Given the description of an element on the screen output the (x, y) to click on. 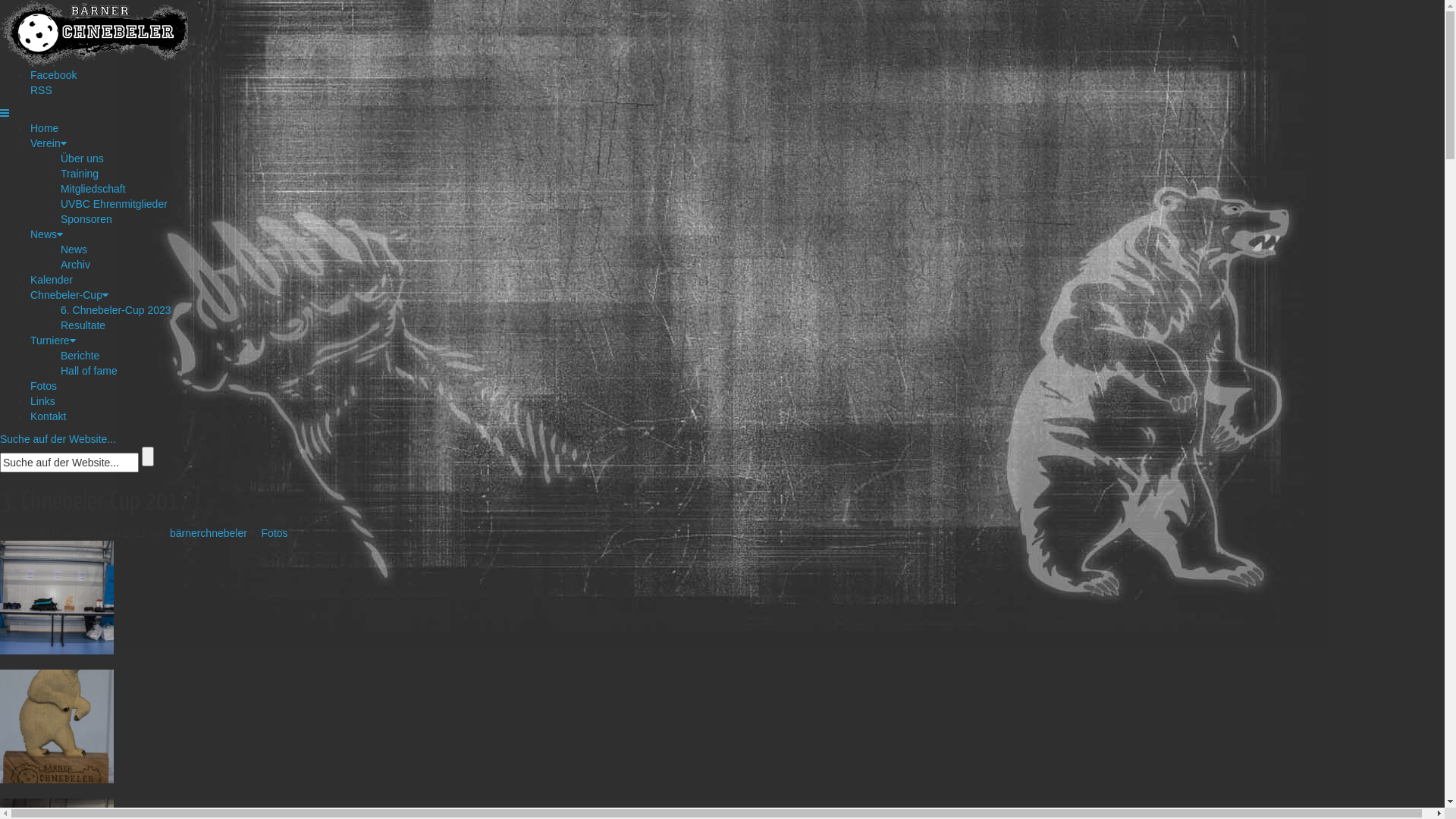
Kalender Element type: text (51, 279)
Archiv Element type: text (75, 264)
Verein Element type: text (48, 143)
Hall of fame Element type: text (88, 370)
Suche auf der Website... Element type: text (58, 439)
Home Element type: text (44, 128)
Berichte Element type: text (79, 355)
RSS Element type: text (41, 90)
News Element type: text (46, 234)
UVBC Ehrenmitglieder Element type: text (113, 203)
Kontakt Element type: text (47, 416)
Links Element type: text (42, 401)
Sponsoren Element type: text (86, 219)
Fotos Element type: text (274, 533)
Resultate Element type: text (82, 325)
News Element type: text (73, 249)
Facebook Element type: text (53, 75)
Mitgliedschaft Element type: text (92, 188)
Turniere Element type: text (52, 340)
6. Chnebeler-Cup 2023 Element type: text (115, 310)
Training Element type: text (79, 173)
Fotos Element type: text (43, 385)
Chnebeler-Cup Element type: text (69, 294)
